Given the description of an element on the screen output the (x, y) to click on. 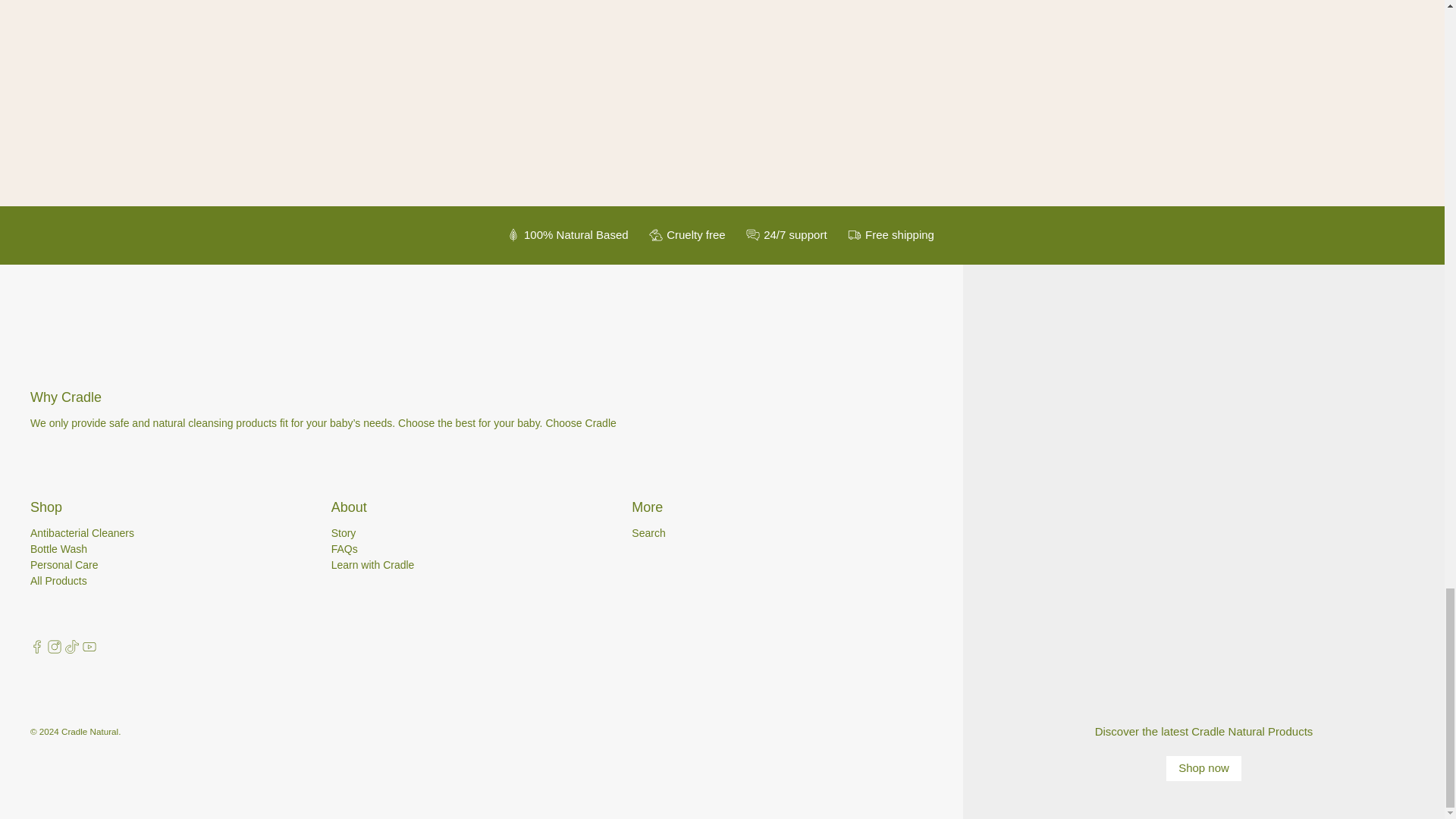
Cradle Natural (87, 308)
Cradle Natural on TikTok (71, 649)
Cradle Natural on YouTube (89, 649)
Cradle Natural on Facebook (36, 649)
Cradle Natural on Instagram (54, 649)
